Given the description of an element on the screen output the (x, y) to click on. 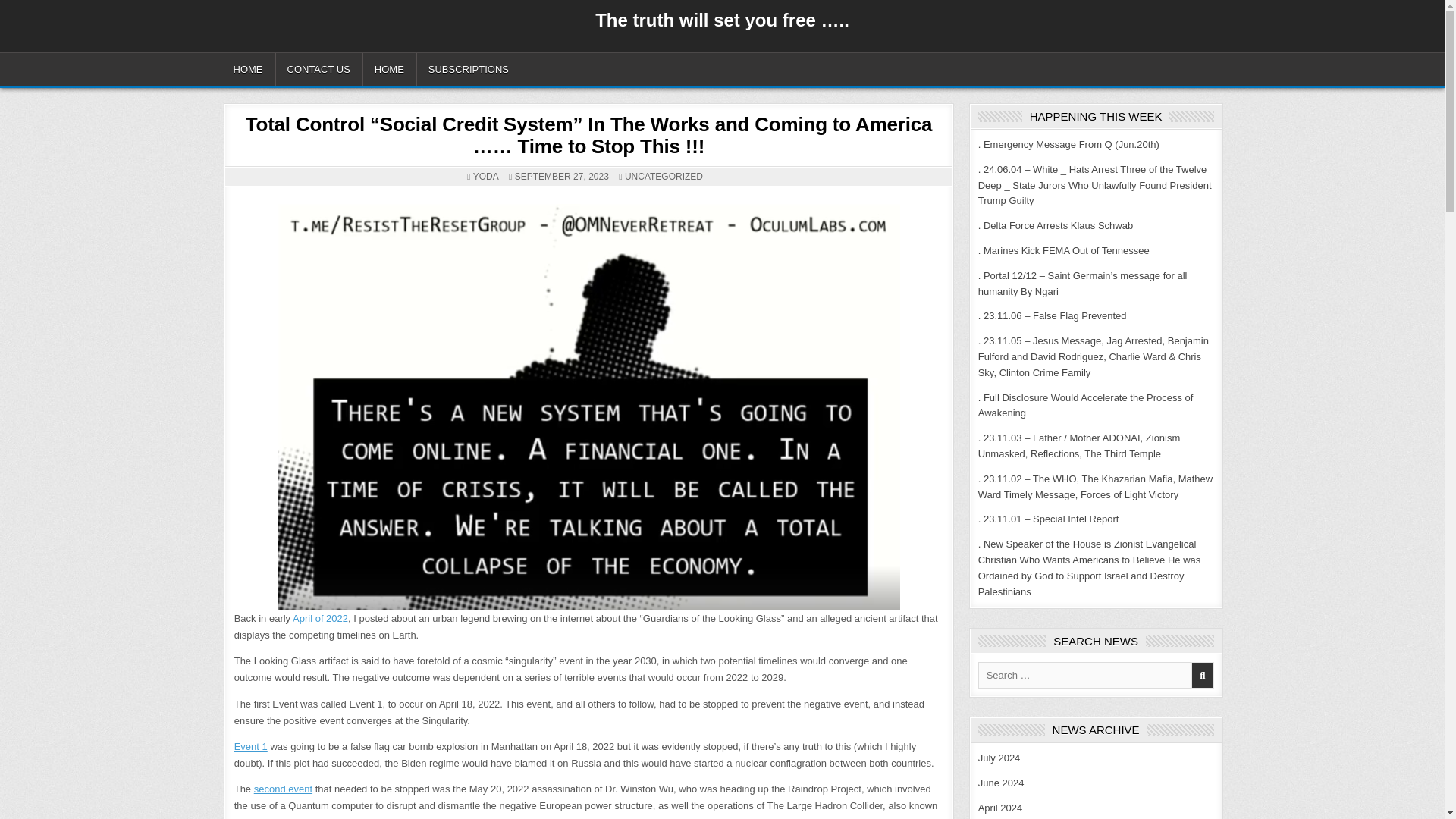
Event 1 (250, 746)
. Full Disclosure Would Accelerate the Process of Awakening (1085, 405)
July 2024 (999, 757)
SUBSCRIPTIONS (467, 69)
YODA (486, 175)
second event (283, 788)
April 2024 (1000, 808)
UNCATEGORIZED (663, 176)
CONTACT US (318, 69)
